Given the description of an element on the screen output the (x, y) to click on. 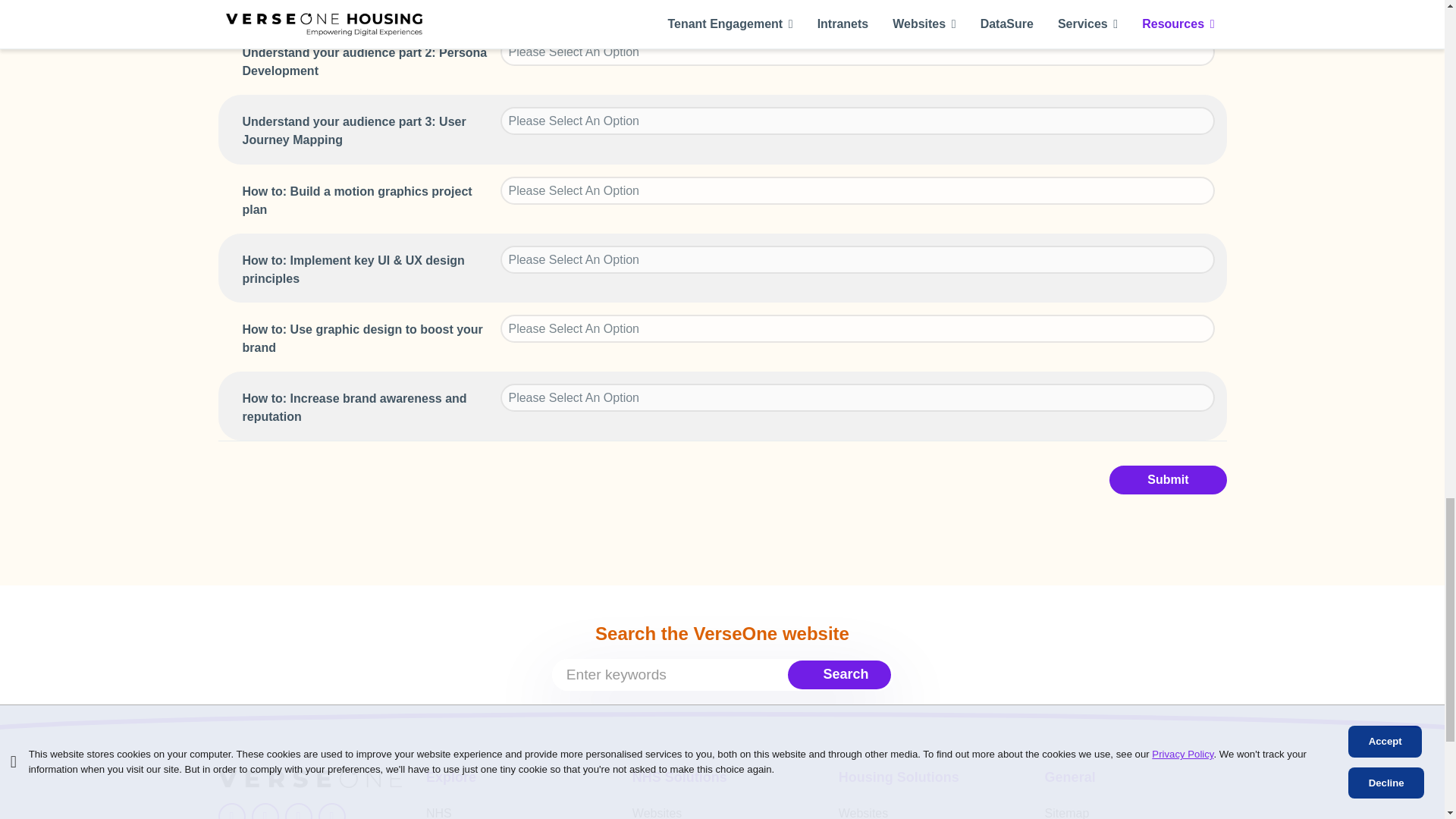
Search (841, 673)
search (722, 674)
Submit (1167, 480)
